Given the description of an element on the screen output the (x, y) to click on. 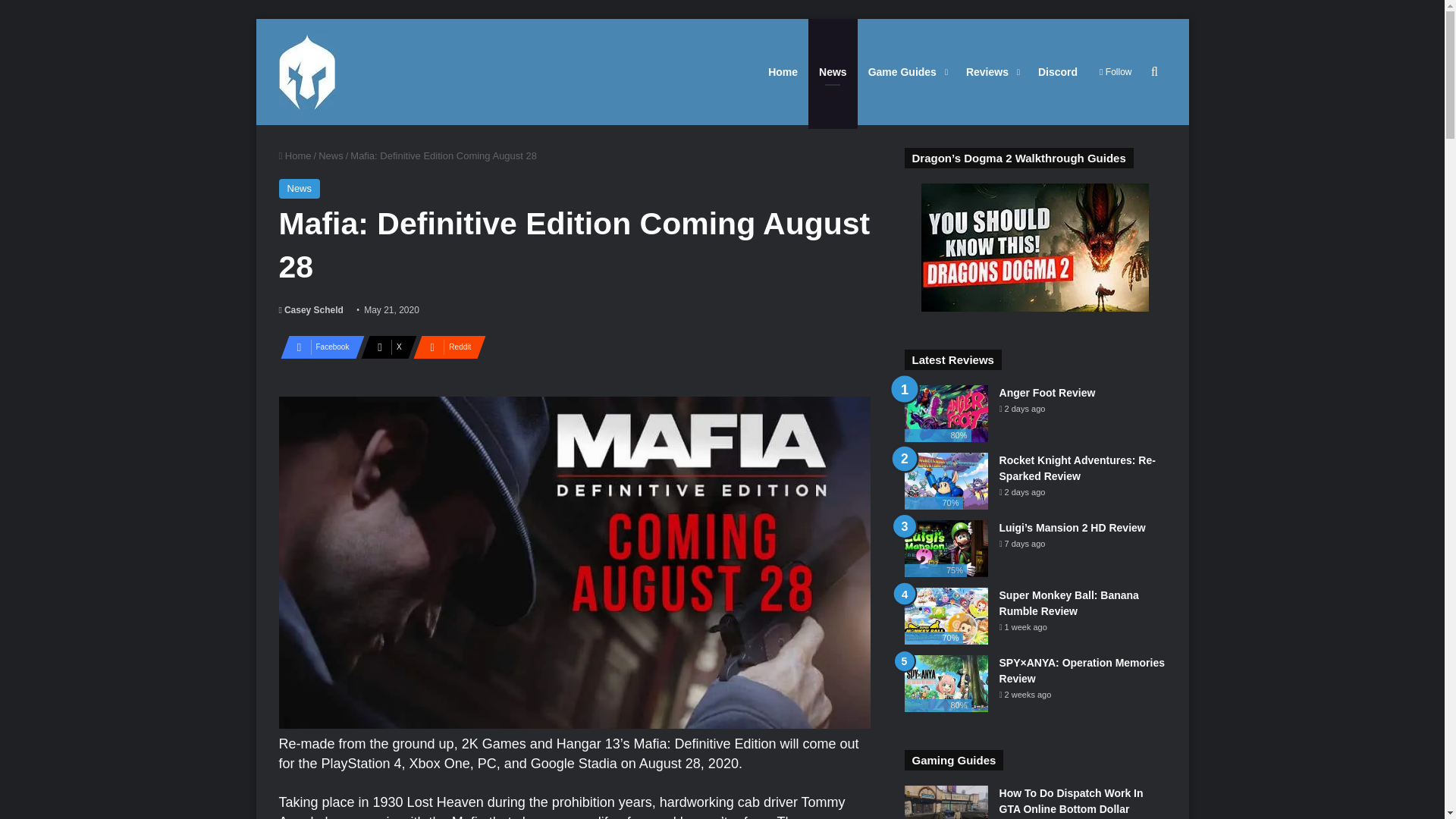
X (384, 346)
Casey Scheld (311, 309)
Game Guides (906, 71)
Home (295, 155)
Reddit (445, 346)
Game Guides (906, 71)
News (299, 189)
Casey Scheld (311, 309)
Reddit (445, 346)
News (330, 155)
Facebook (318, 346)
X (384, 346)
Facebook (318, 346)
